Given the description of an element on the screen output the (x, y) to click on. 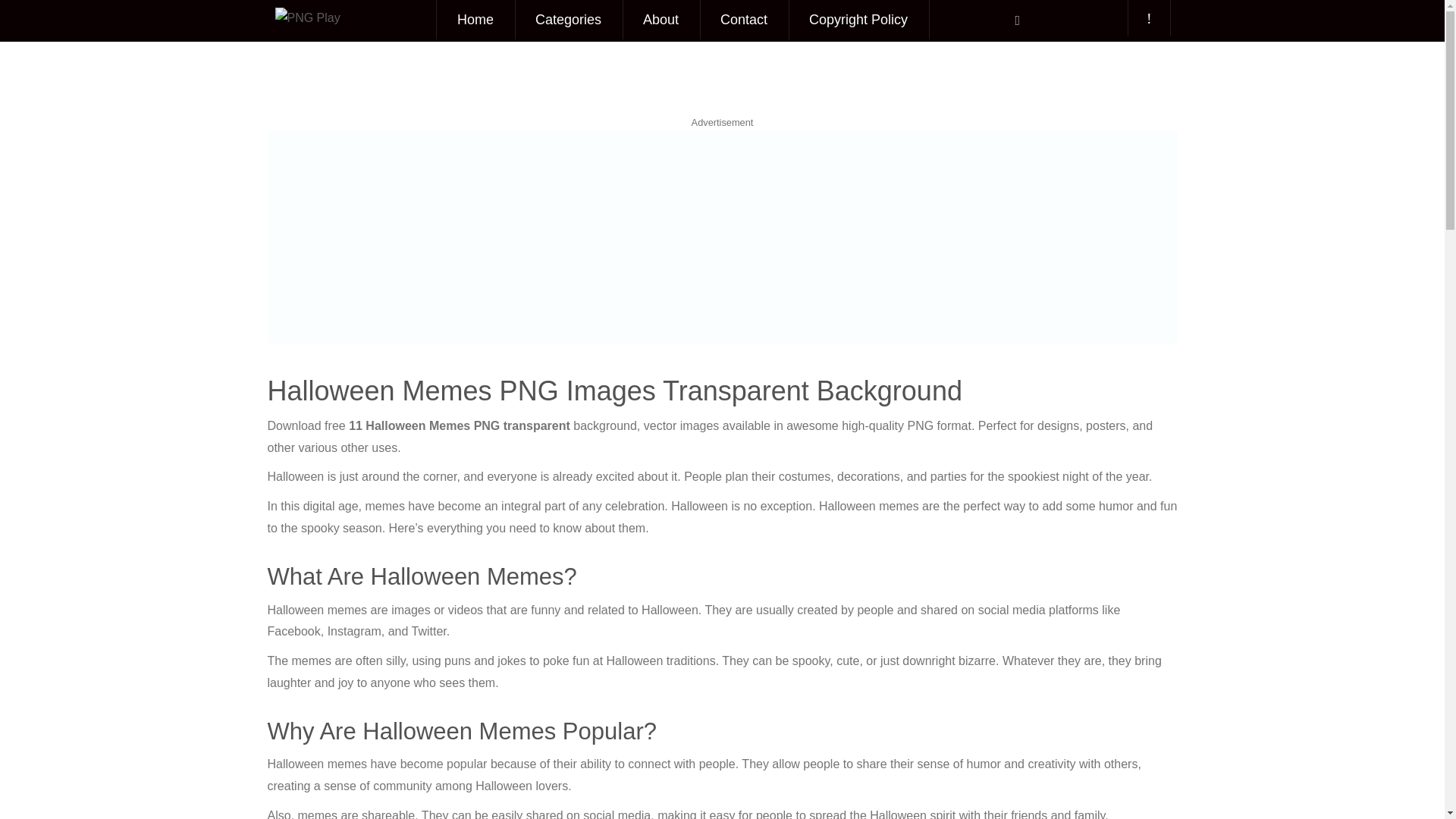
Categories (568, 19)
Copyright Policy (858, 19)
Home (474, 19)
About (660, 19)
Contact (743, 19)
